Given the description of an element on the screen output the (x, y) to click on. 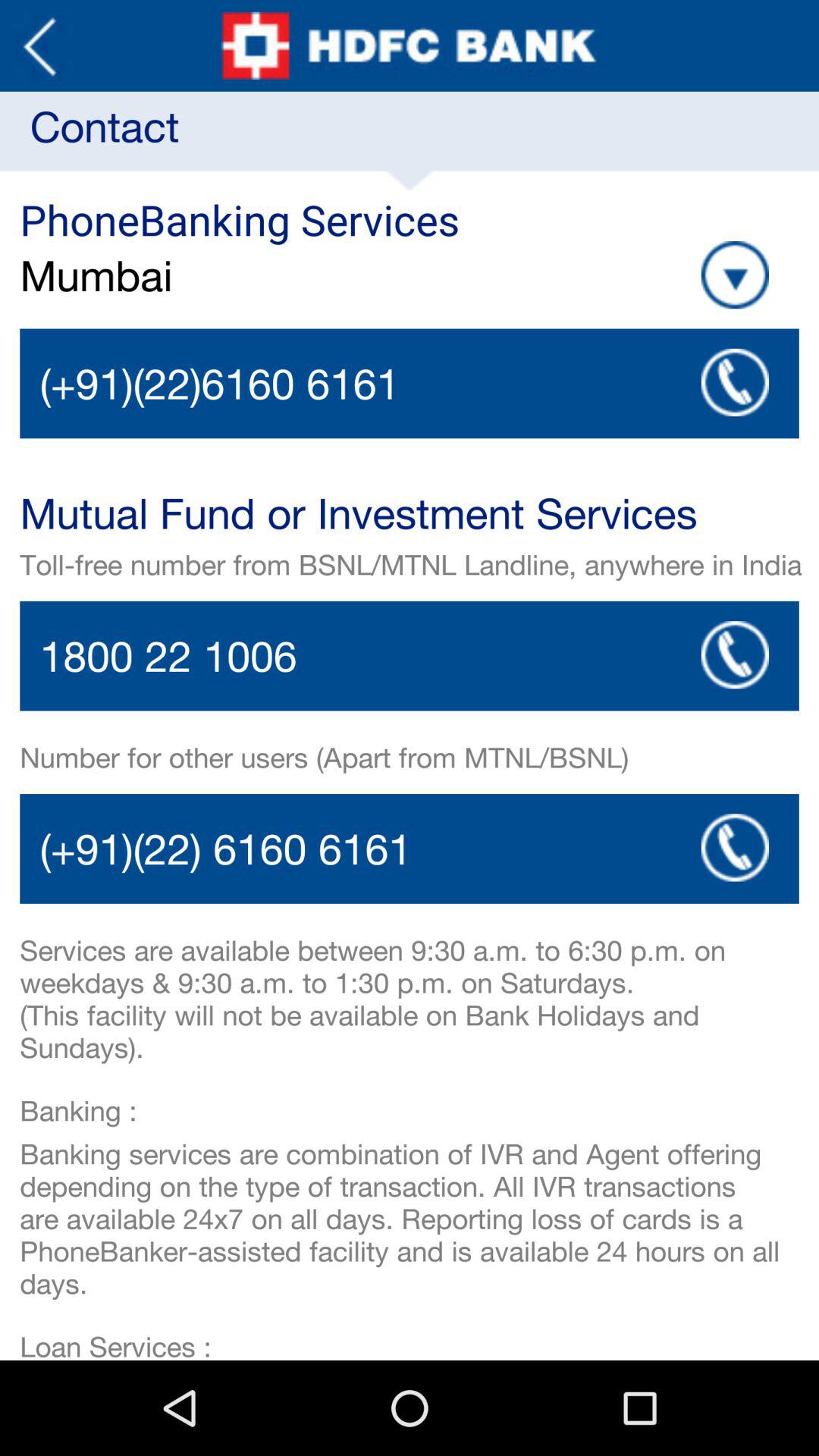
call (409, 848)
